Given the description of an element on the screen output the (x, y) to click on. 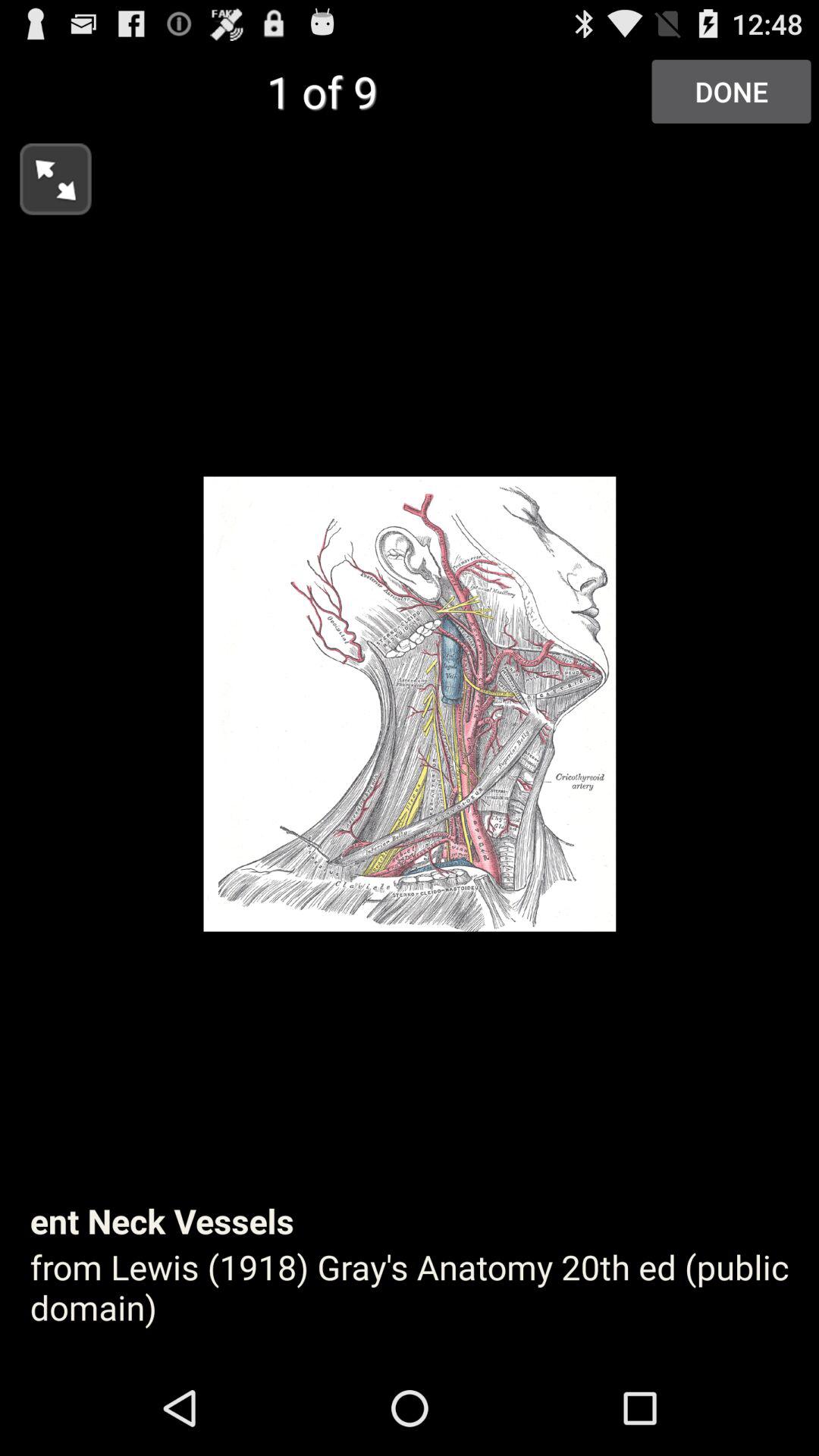
turn off the icon below the 1 of 9 item (45, 174)
